Given the description of an element on the screen output the (x, y) to click on. 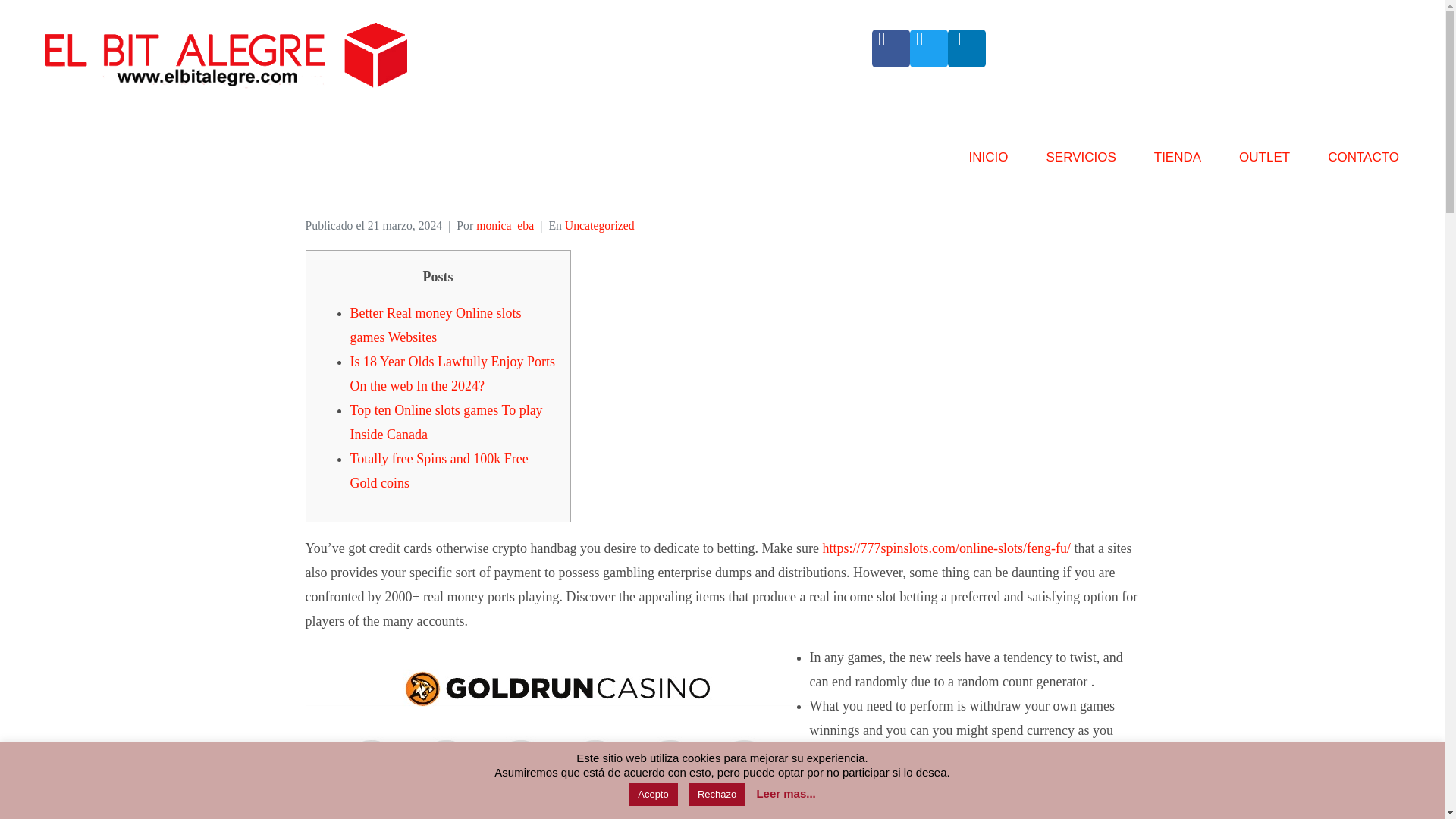
Top ten Online slots games To play Inside Canada (446, 422)
Totally free Spins and 100k Free Gold coins (439, 470)
INICIO (989, 163)
Uncategorized (599, 225)
TIENDA (1177, 163)
Better Real money Online slots games Websites (435, 324)
OUTLET (1264, 163)
CONTACTO (1363, 163)
Is 18 Year Olds Lawfully Enjoy Ports On the web In the 2024? (453, 373)
SERVICIOS (1080, 163)
